Given the description of an element on the screen output the (x, y) to click on. 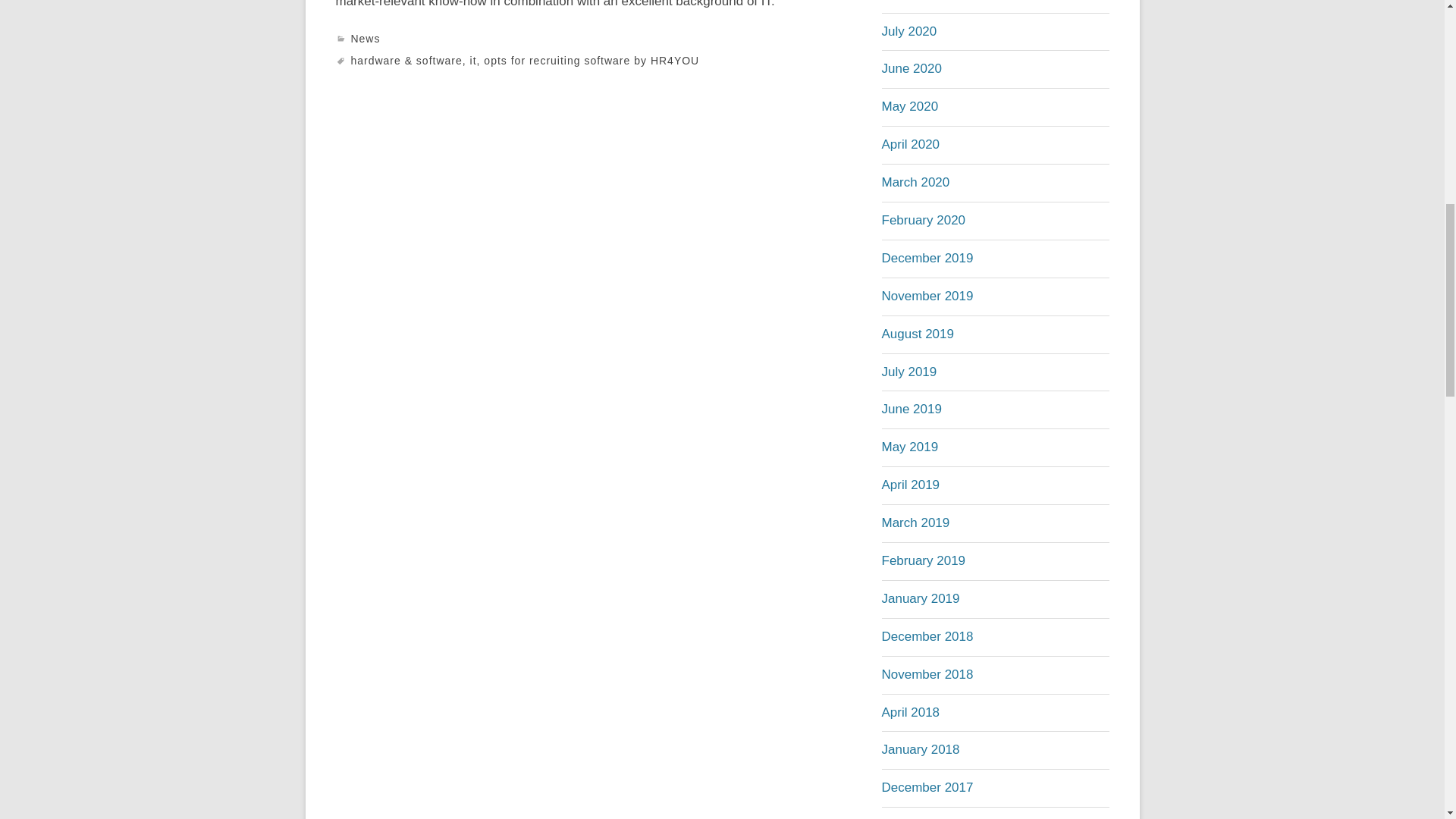
July 2020 (908, 31)
February 2020 (922, 219)
opts for recruiting software by HR4YOU (590, 60)
March 2020 (914, 182)
July 2019 (908, 371)
News (365, 38)
August 2019 (916, 333)
May 2020 (908, 106)
November 2019 (926, 296)
